Given the description of an element on the screen output the (x, y) to click on. 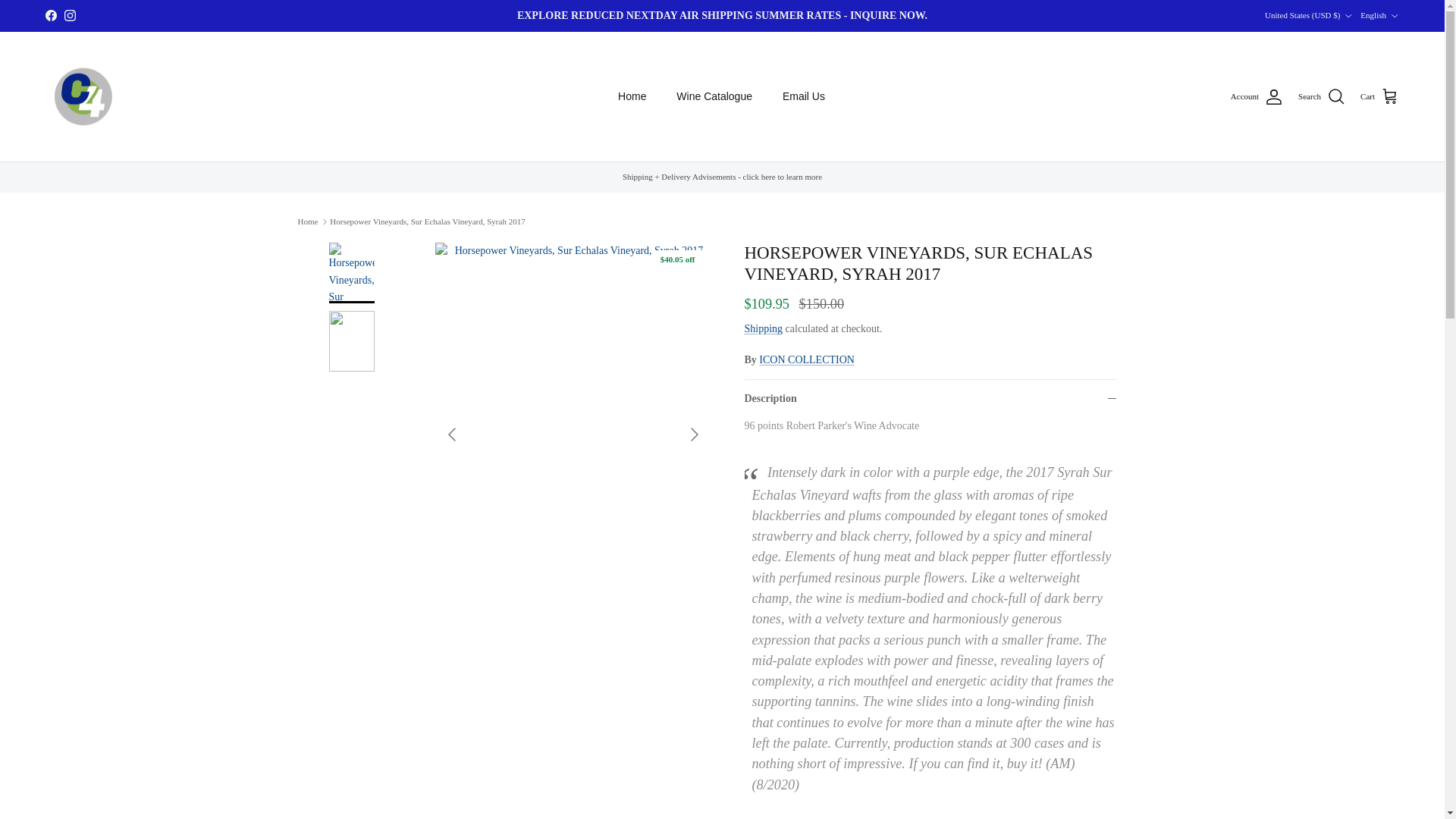
Search (1321, 96)
Facebook (50, 15)
Home (631, 96)
Cart (1379, 96)
Account (1256, 96)
English (1379, 15)
Instagram (69, 15)
Email Us (803, 96)
Wine Catalogue (713, 96)
